Given the description of an element on the screen output the (x, y) to click on. 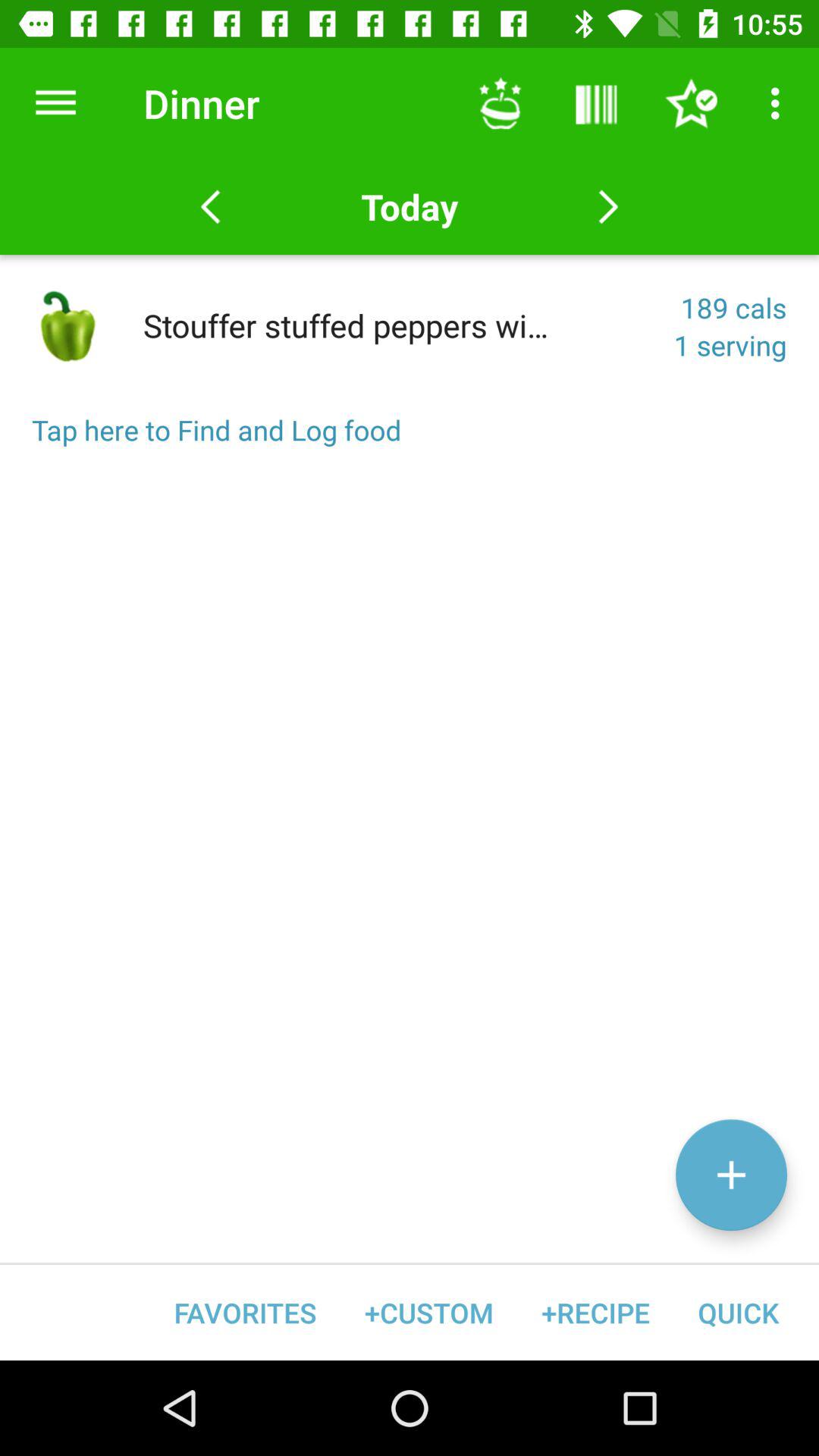
jump until the favorites icon (245, 1312)
